Given the description of an element on the screen output the (x, y) to click on. 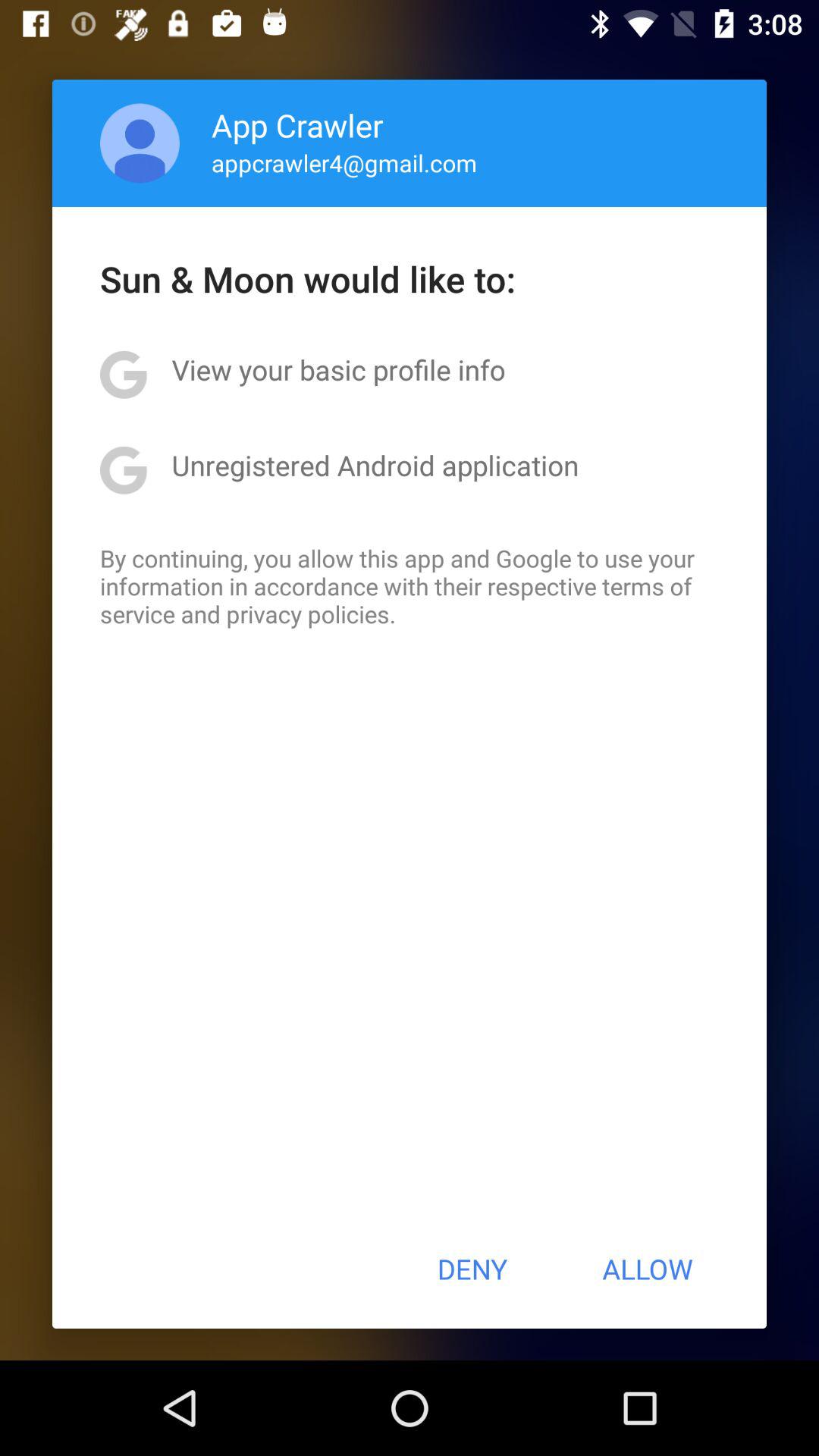
choose item above the sun moon would item (139, 143)
